Given the description of an element on the screen output the (x, y) to click on. 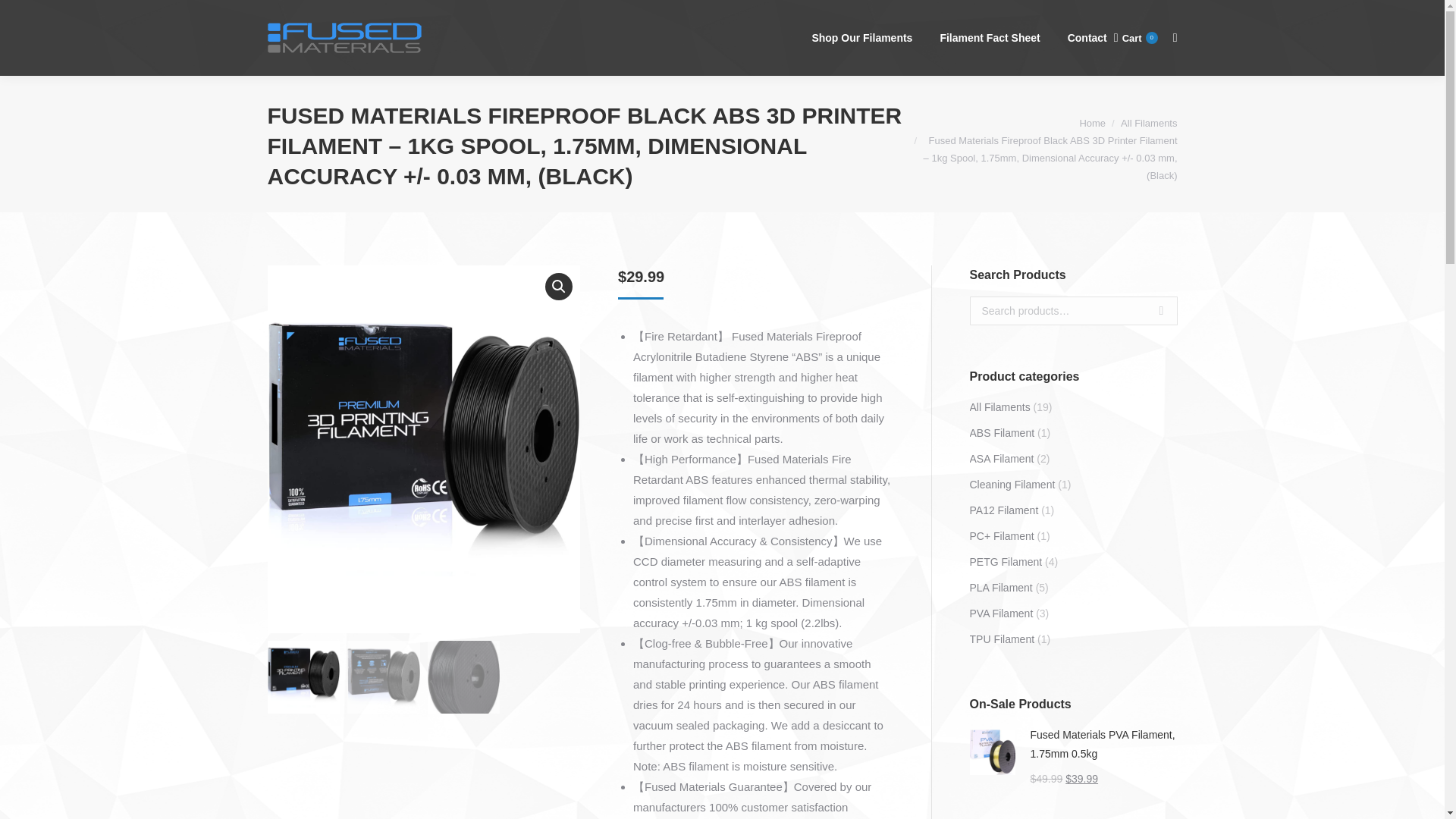
Home (1091, 122)
Contact (1086, 37)
All Filaments (1148, 122)
Home (1091, 122)
Shop Our Filaments (861, 37)
Go! (24, 15)
All Filaments (1135, 37)
Filament Fact Sheet (1148, 122)
